Given the description of an element on the screen output the (x, y) to click on. 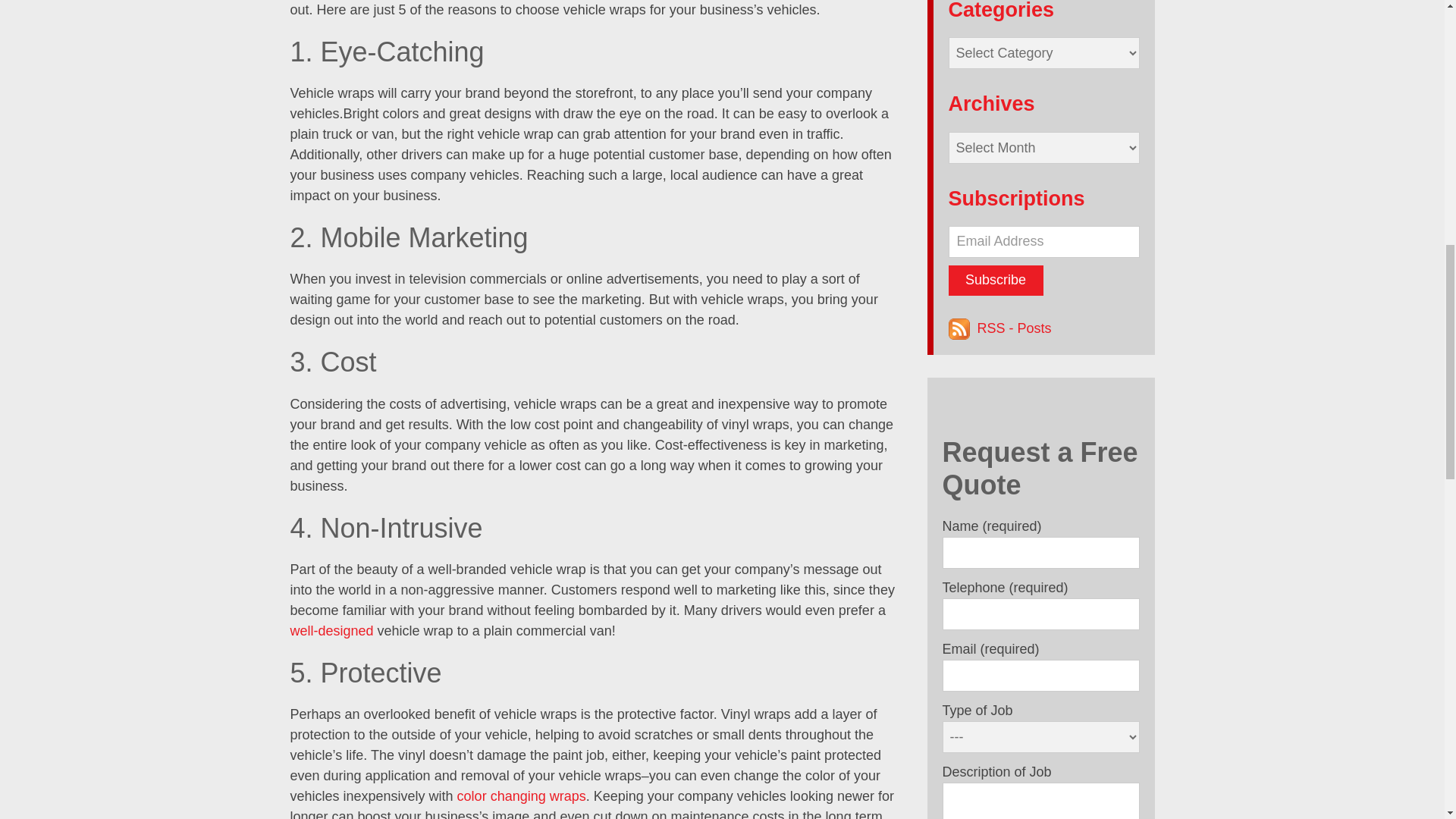
Subscribe to Posts (959, 327)
color changing wraps (521, 795)
well-designed (330, 630)
Subscribe to Posts (1013, 327)
